Given the description of an element on the screen output the (x, y) to click on. 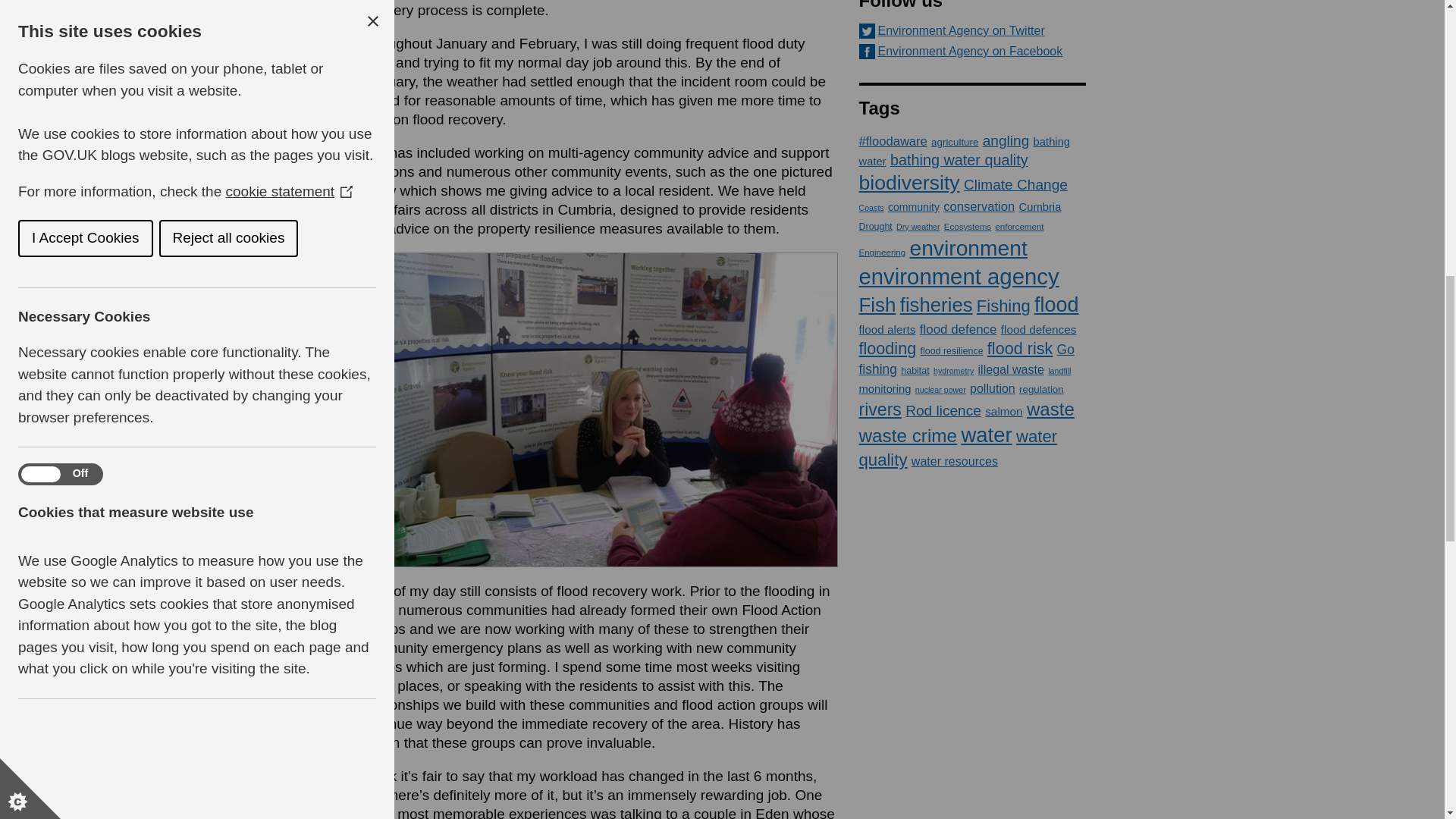
agriculture (954, 142)
Environment Agency on Twitter (972, 30)
bathing water (964, 151)
angling (1005, 140)
Environment Agency on Facebook (972, 51)
